Given the description of an element on the screen output the (x, y) to click on. 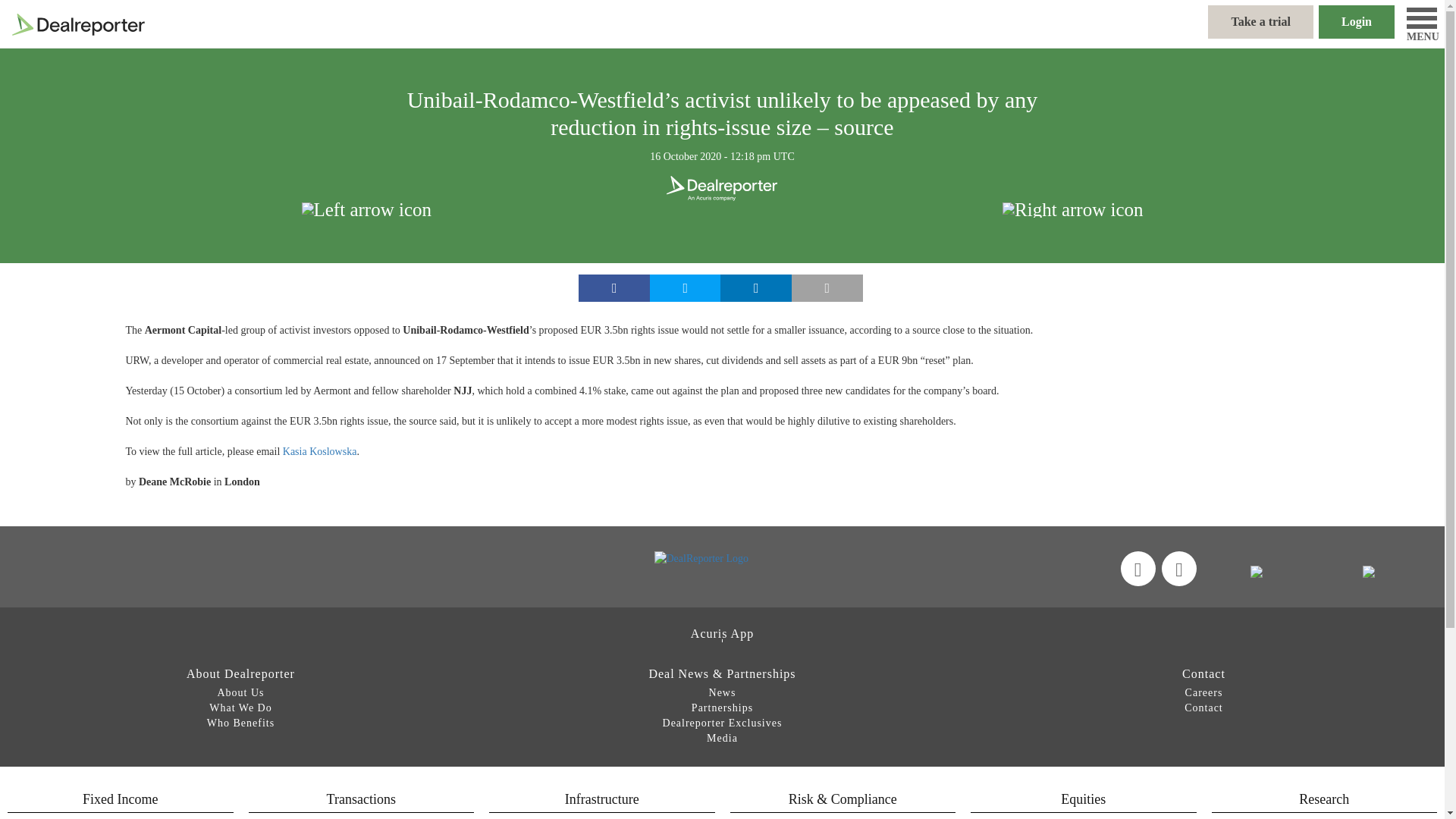
Kasia Koslowska (319, 451)
About Us (239, 693)
Acuris App (722, 633)
Home (77, 23)
Login (1356, 21)
Take a trial (1260, 21)
